Given the description of an element on the screen output the (x, y) to click on. 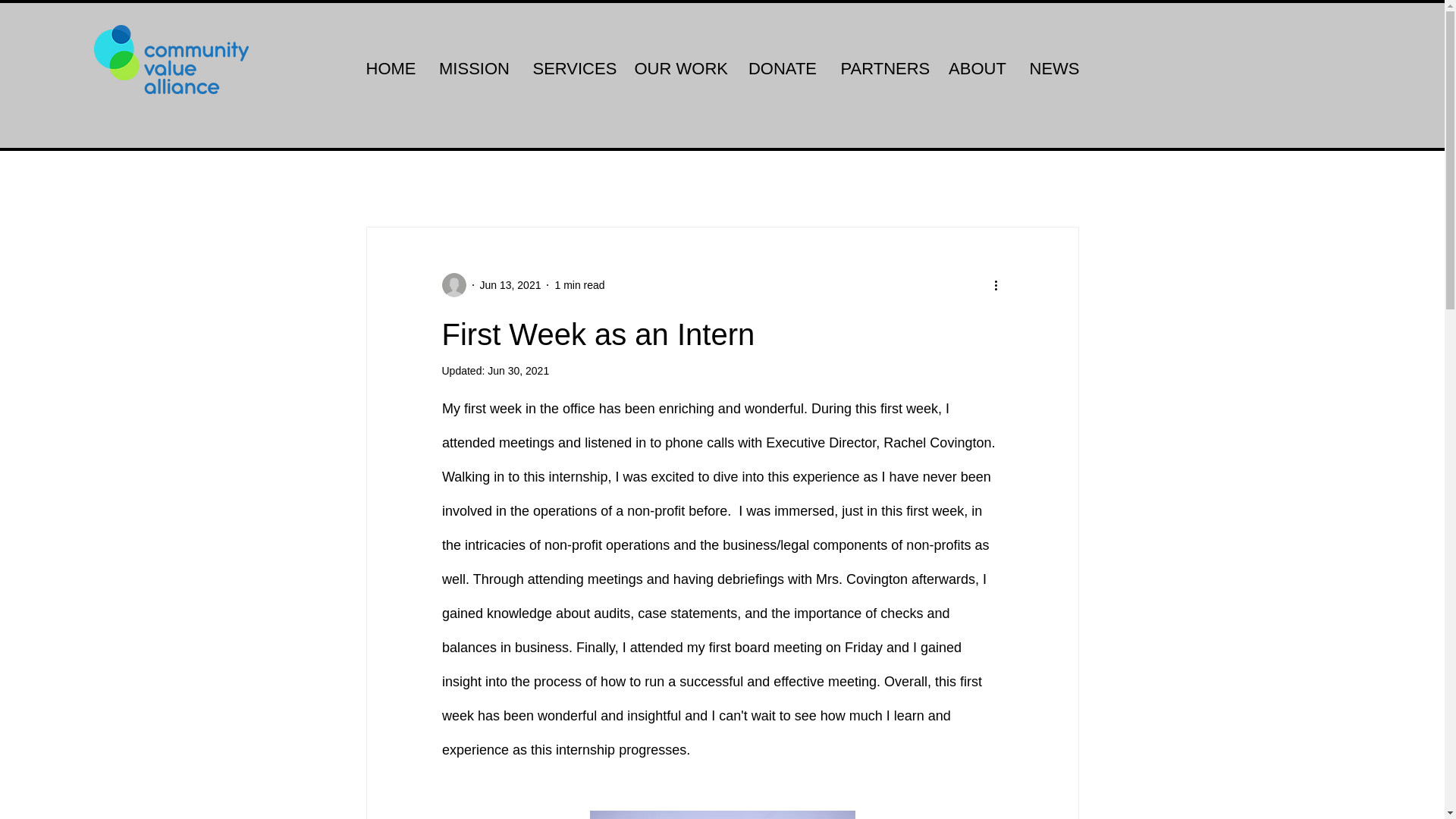
MISSION (474, 68)
HOME (391, 68)
Jun 30, 2021 (517, 370)
PARTNERS (883, 68)
Jun 13, 2021 (509, 285)
NEWS (1053, 68)
OUR WORK (679, 68)
1 min read (579, 285)
ABOUT (977, 68)
SERVICES (572, 68)
